Given the description of an element on the screen output the (x, y) to click on. 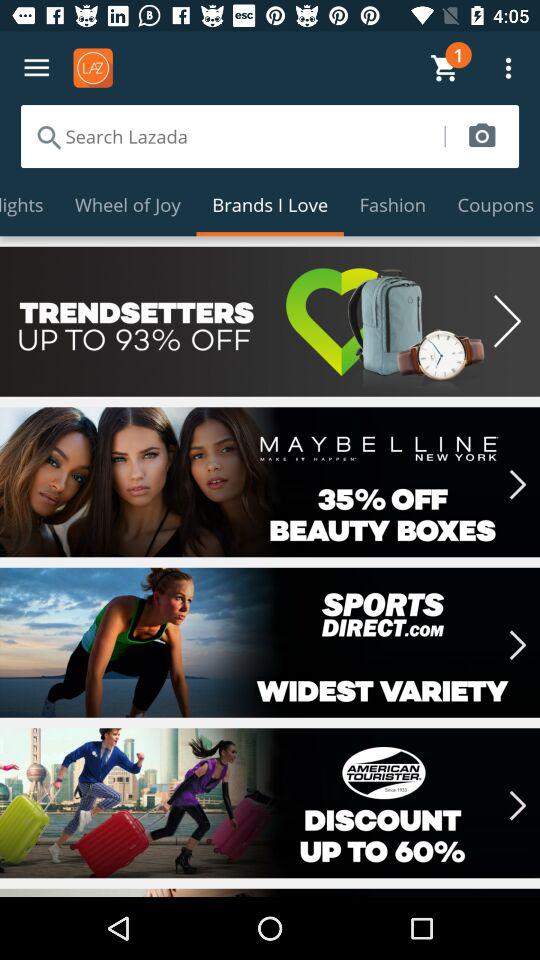
trendsetters more details (270, 321)
